Given the description of an element on the screen output the (x, y) to click on. 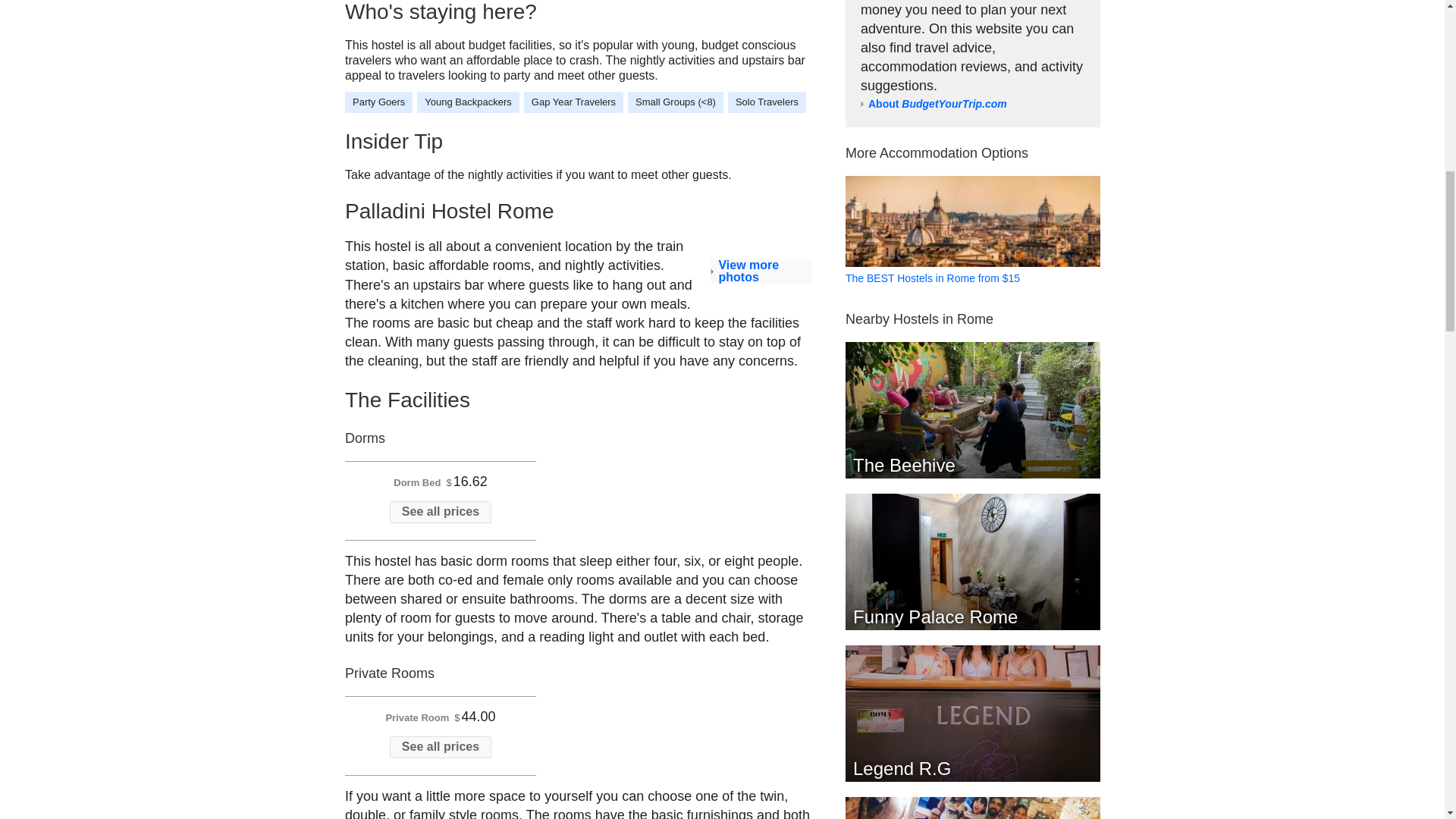
Funny Palace Rome (971, 561)
See all prices (439, 512)
Dreaming Rome Hostel (971, 807)
View more photos (760, 271)
About BudgetYourTrip.com (936, 103)
Legend R.G (971, 713)
See all prices (439, 747)
The Beehive (971, 410)
